Given the description of an element on the screen output the (x, y) to click on. 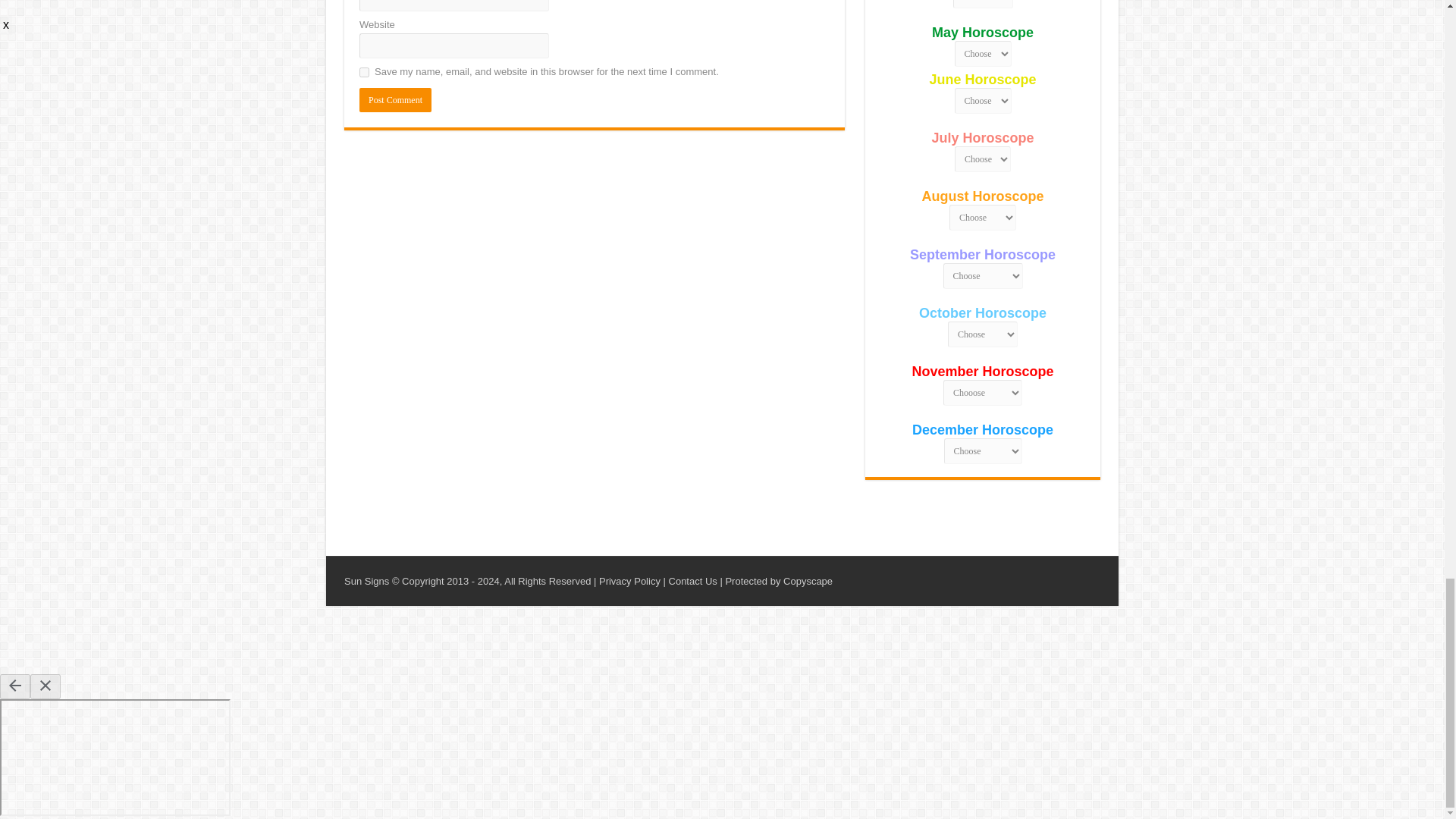
yes (364, 71)
Post Comment (394, 99)
Post Comment (394, 99)
